Given the description of an element on the screen output the (x, y) to click on. 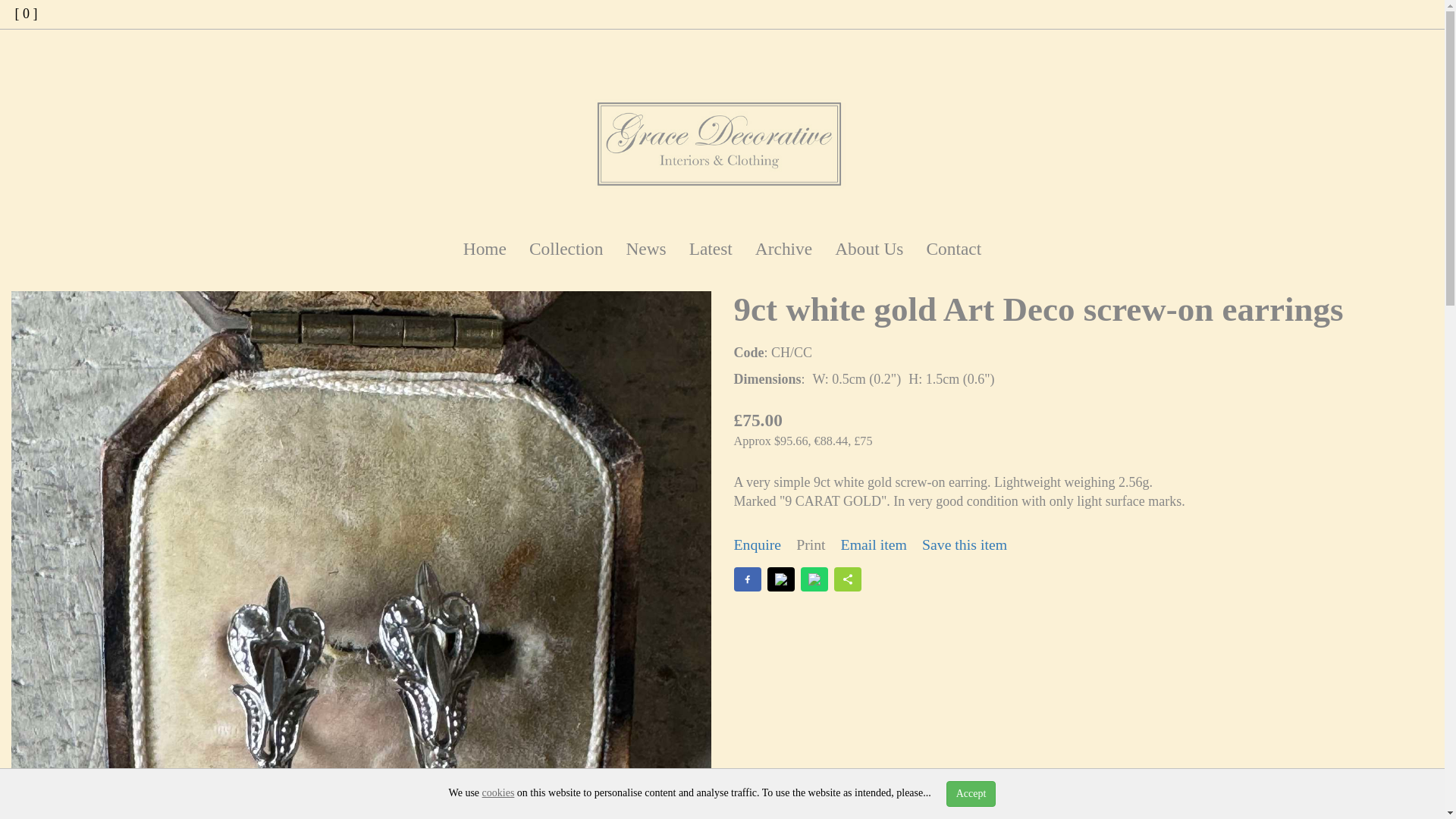
Collection (566, 248)
Latest (711, 248)
Email item (874, 544)
Print (810, 544)
Enquire (757, 544)
About Us (869, 248)
Contact (953, 248)
Grace Decorative (721, 141)
Home (484, 248)
Save this item (964, 544)
Archive (784, 248)
News (645, 248)
